Given the description of an element on the screen output the (x, y) to click on. 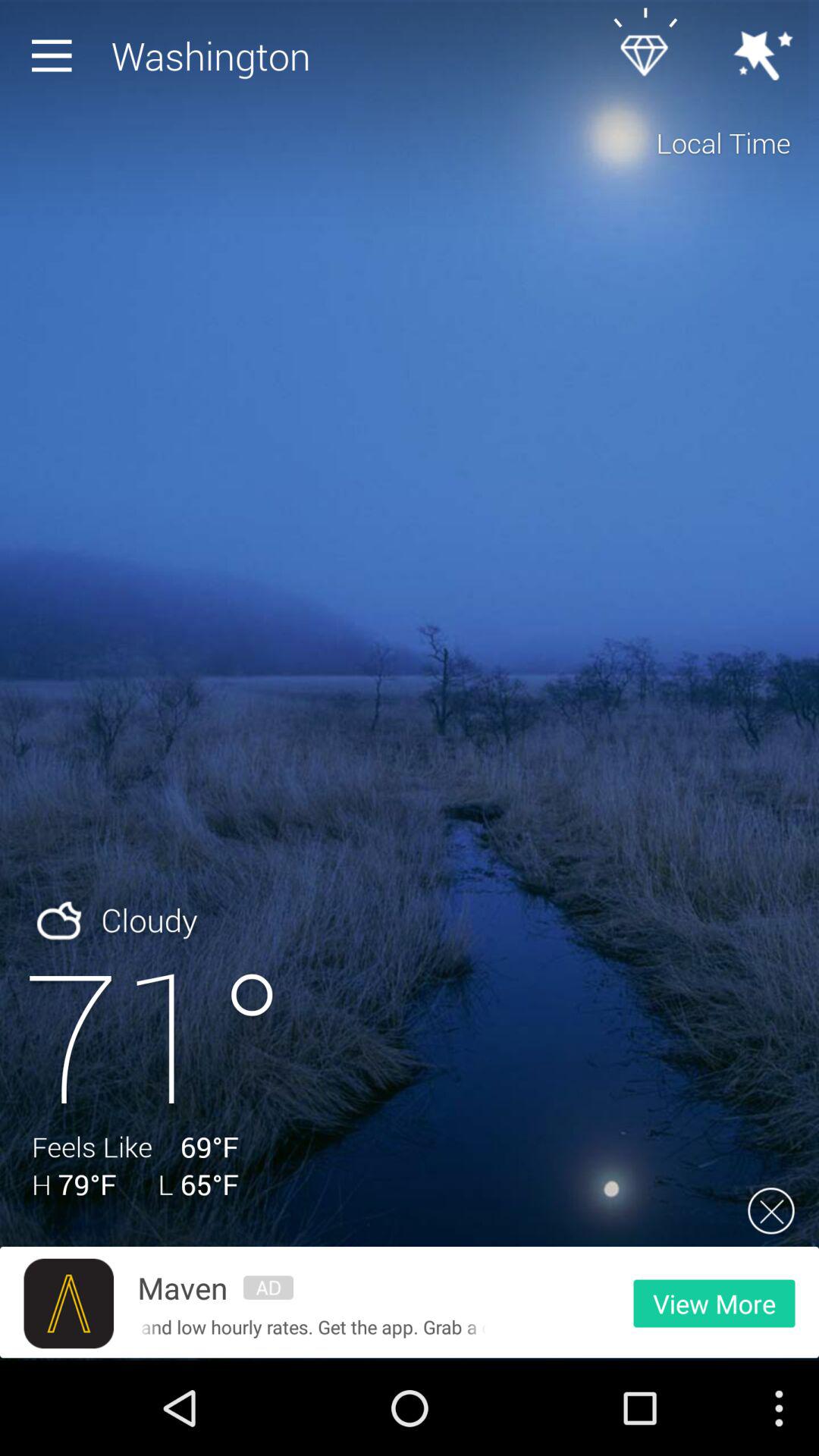
click on the below close option (771, 1210)
